Given the description of an element on the screen output the (x, y) to click on. 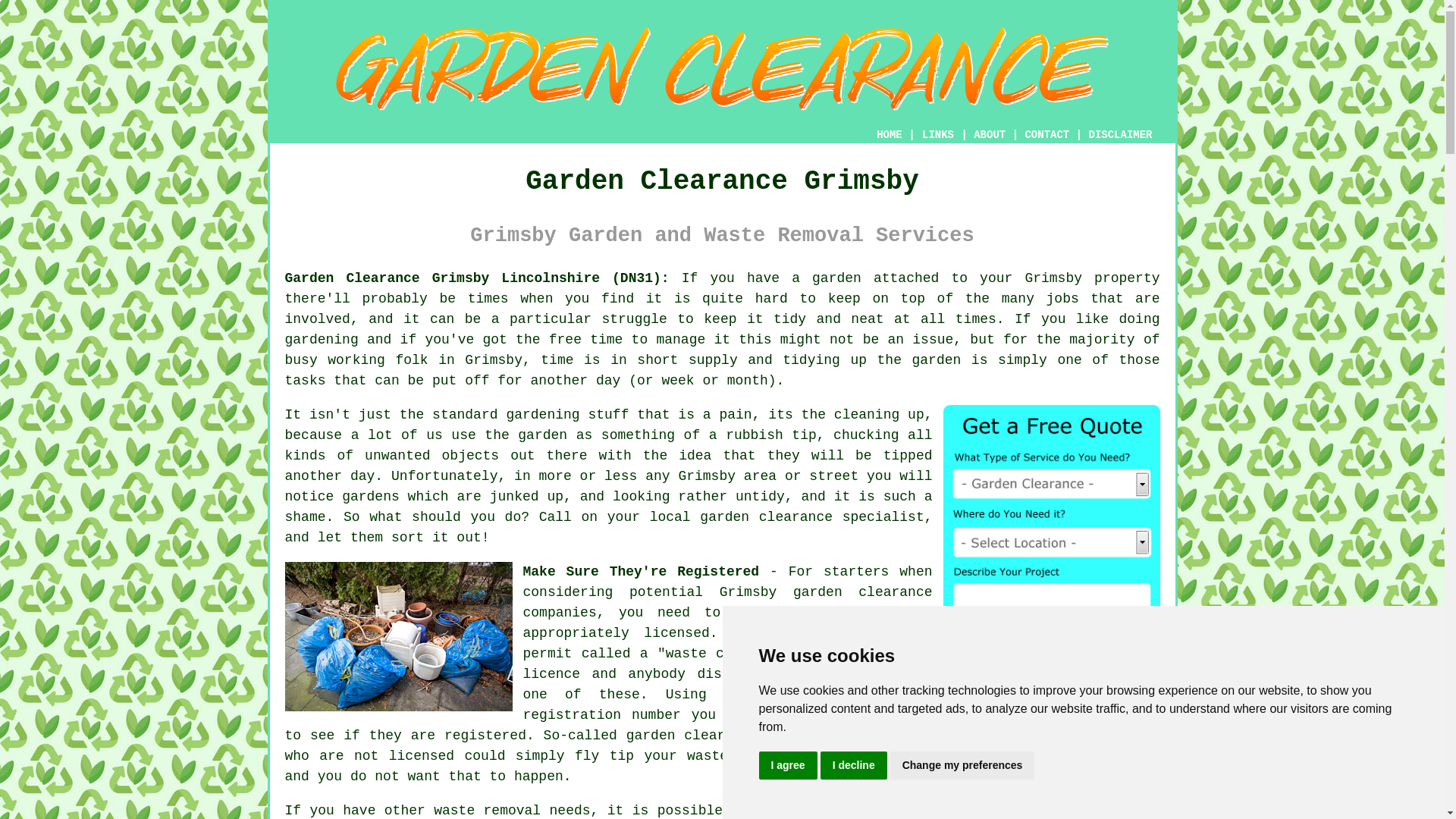
garden (836, 278)
gardening (321, 339)
Garden Clearance Grimsby (721, 69)
garden clearance (863, 591)
I agree (787, 765)
waste carrier, broker or dealer licence (727, 663)
registered (484, 735)
gardening (542, 414)
fly tip (604, 755)
garden (542, 435)
